Given the description of an element on the screen output the (x, y) to click on. 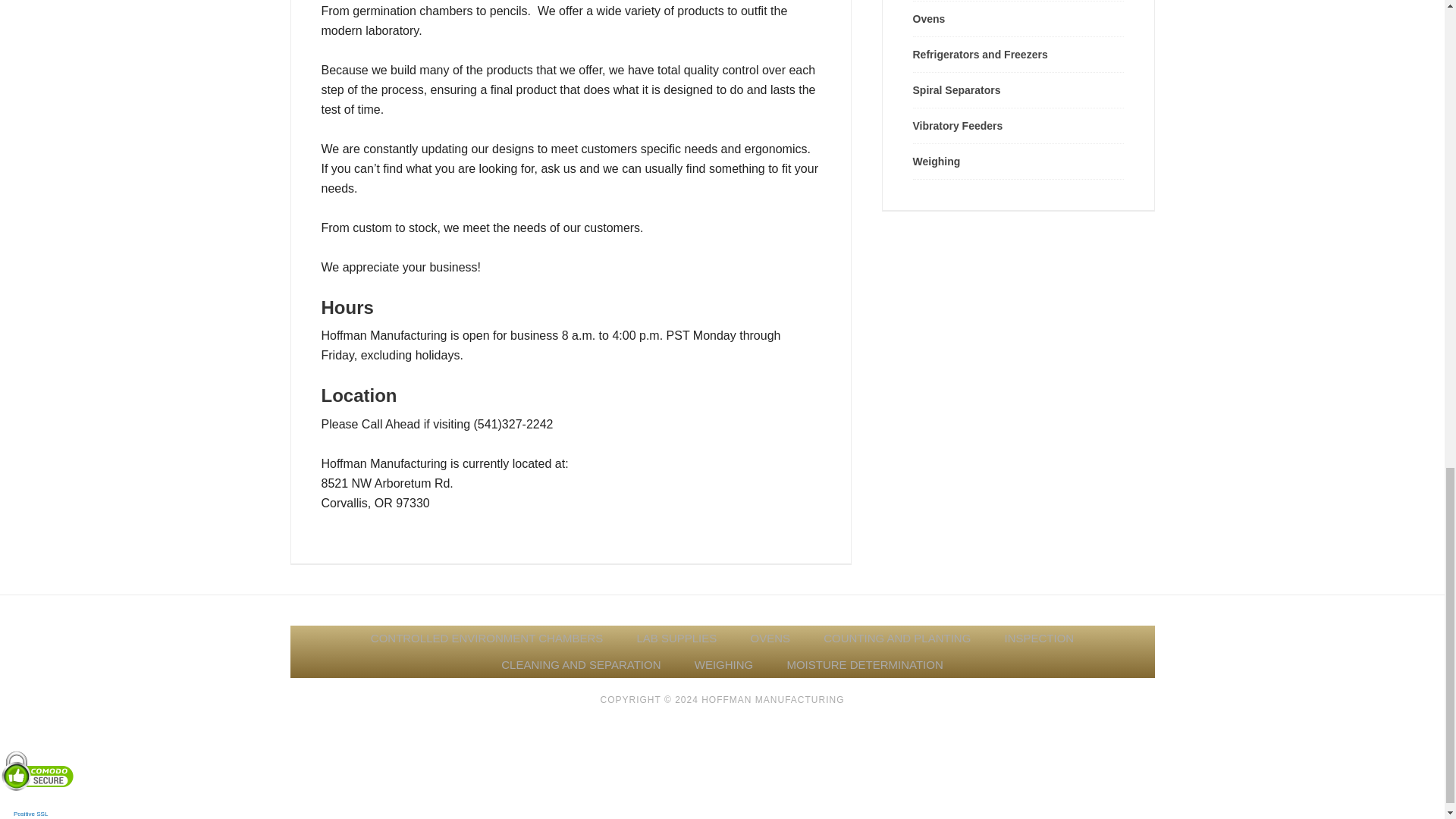
LAB SUPPLIES (676, 638)
Weighing (936, 161)
Spiral Separators (956, 90)
INSPECTION (1039, 638)
CONTROLLED ENVIRONMENT CHAMBERS (486, 638)
Refrigerators and Freezers (980, 54)
CLEANING AND SEPARATION (580, 664)
OVENS (770, 638)
COUNTING AND PLANTING (896, 638)
WEIGHING (723, 664)
Ovens (928, 19)
MOISTURE DETERMINATION (864, 664)
Vibratory Feeders (957, 125)
